Given the description of an element on the screen output the (x, y) to click on. 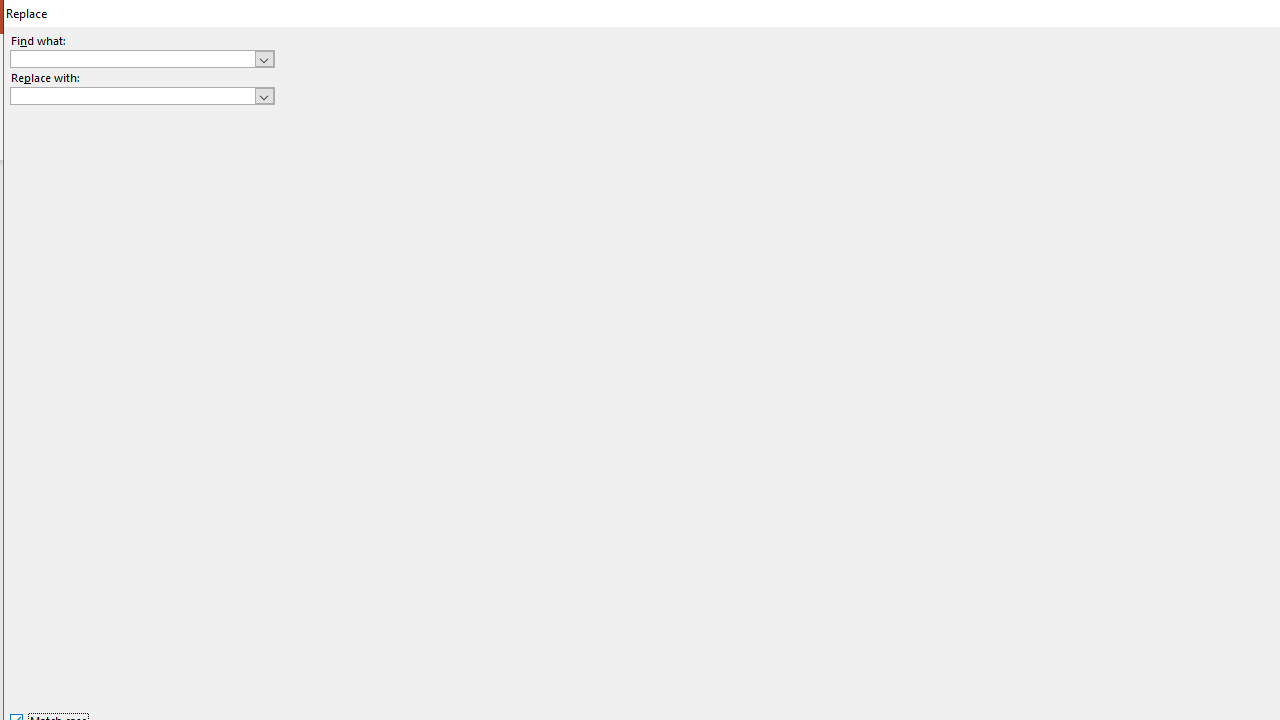
Replace with (142, 96)
Find what (142, 58)
Find what (132, 58)
Replace with (132, 95)
